Given the description of an element on the screen output the (x, y) to click on. 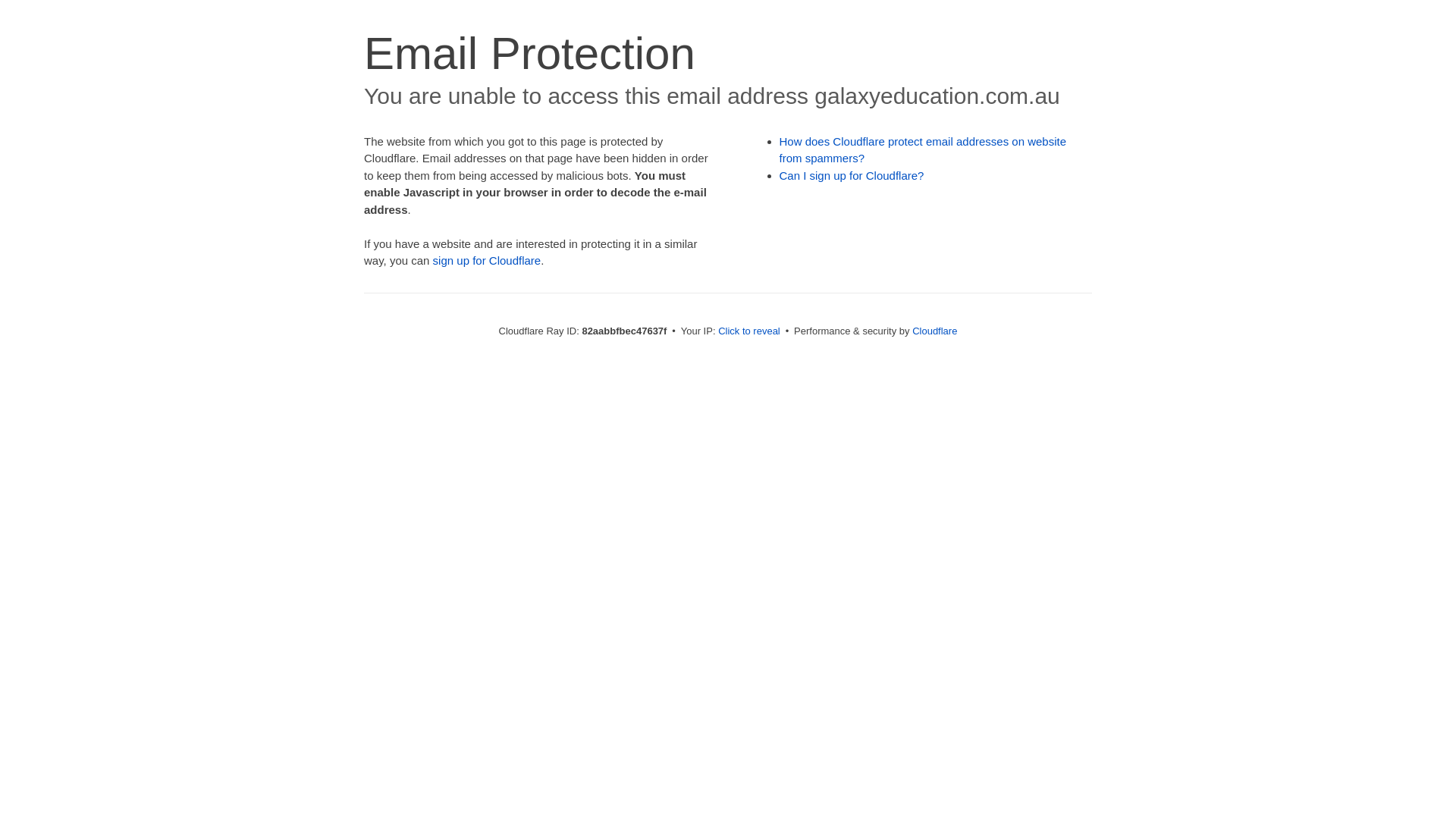
Click to reveal Element type: text (749, 330)
Can I sign up for Cloudflare? Element type: text (851, 175)
sign up for Cloudflare Element type: text (487, 260)
Cloudflare Element type: text (934, 330)
